Given the description of an element on the screen output the (x, y) to click on. 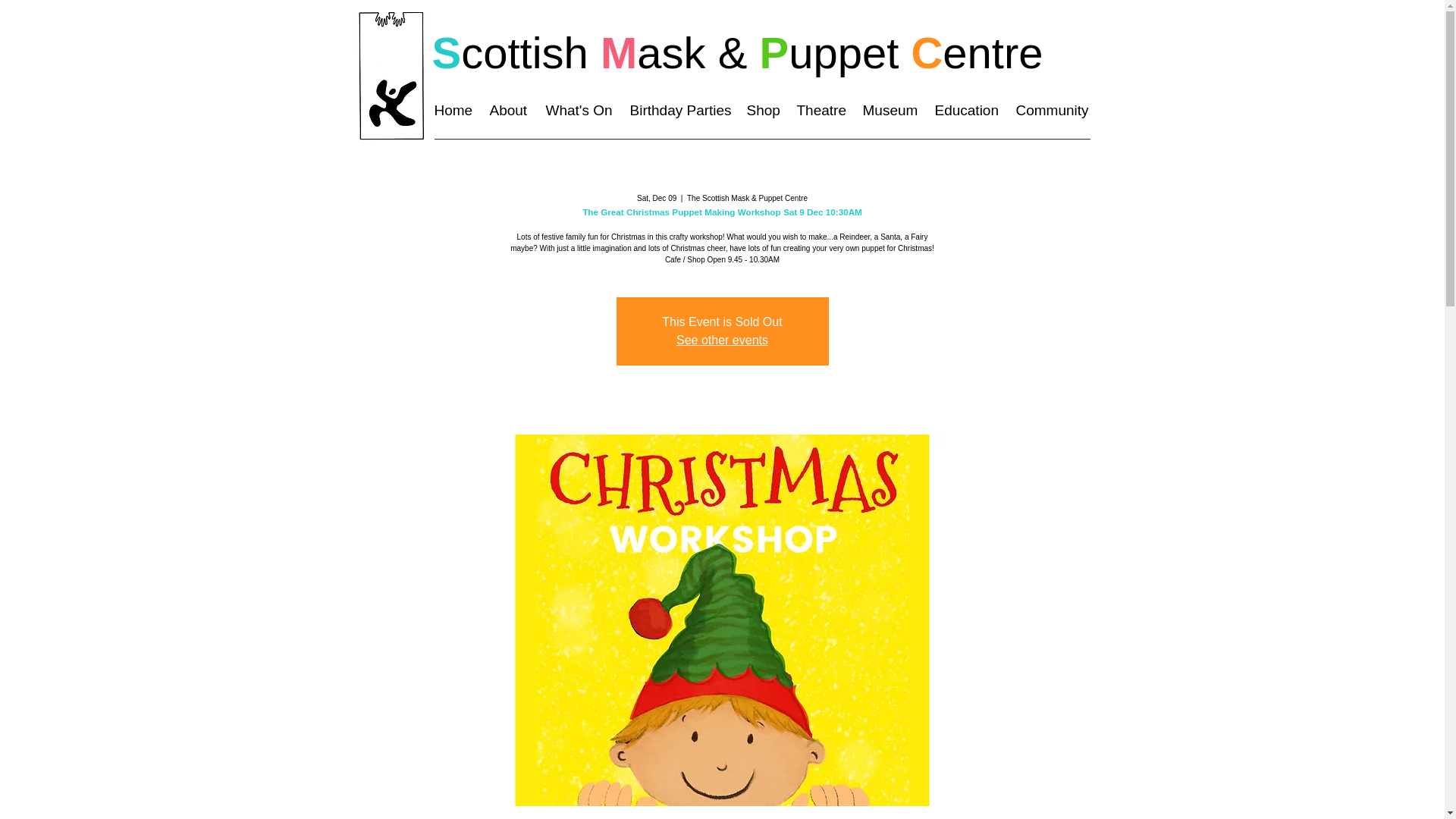
About (509, 110)
S (446, 51)
Community (1054, 110)
Shop (763, 110)
See other events (722, 339)
Theatre (821, 110)
What's On (580, 110)
Education (966, 110)
cottish (524, 51)
Museum (891, 110)
Birthday Parties (679, 110)
Home (453, 110)
